Given the description of an element on the screen output the (x, y) to click on. 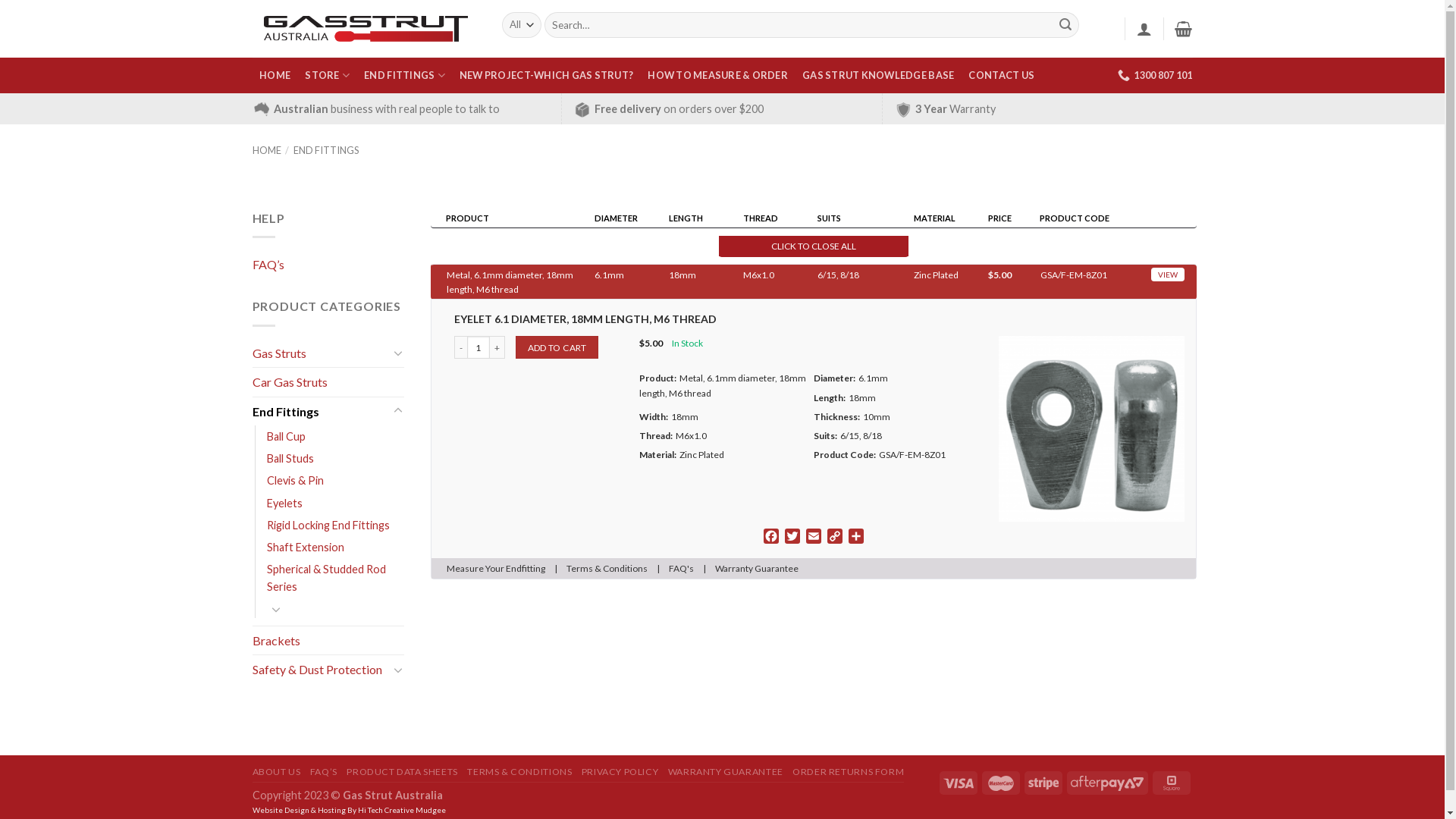
Twitter Element type: text (791, 537)
Gas Struts Element type: text (319, 352)
END FITTINGS Element type: text (404, 75)
Hi Tech Creative Mudgee Element type: text (401, 809)
1300 807 101 Element type: text (1154, 74)
End Fittings Element type: text (319, 411)
NEW PROJECT-WHICH GAS STRUT? Element type: text (545, 75)
Measure Your Endfitting Element type: text (495, 568)
Spherical & Studded Rod Series Element type: text (335, 577)
Ball Studs Element type: text (289, 458)
Eyelets Element type: text (284, 503)
Safety & Dust Protection Element type: text (319, 669)
FAQ's Element type: text (681, 568)
Shaft Extension Element type: text (305, 547)
Facebook Element type: text (770, 537)
GAS STRUT KNOWLEDGE BASE Element type: text (878, 75)
Cart Element type: hover (1183, 28)
TERMS & CONDITIONS Element type: text (519, 771)
ABOUT US Element type: text (275, 771)
ORDER RETURNS FORM Element type: text (847, 771)
Clevis & Pin Element type: text (294, 480)
WARRANTY GUARANTEE Element type: text (725, 771)
STORE Element type: text (327, 75)
HOME Element type: text (265, 150)
Ball Cup Element type: text (285, 436)
PRIVACY POLICY Element type: text (619, 771)
Brackets Element type: text (327, 640)
HOW TO MEASURE & ORDER Element type: text (717, 75)
Qty Element type: hover (478, 346)
ADD TO CART Element type: text (556, 346)
Warranty Guarantee Element type: text (755, 568)
PRODUCT DATA SHEETS Element type: text (402, 771)
Terms & Conditions Element type: text (606, 568)
HOME Element type: text (274, 75)
Rigid Locking End Fittings Element type: text (327, 525)
END FITTINGS Element type: text (325, 150)
Share Element type: text (855, 537)
Copy Link Element type: text (833, 537)
Car Gas Struts Element type: text (327, 381)
Email Element type: text (812, 537)
CONTACT US Element type: text (1001, 75)
